Given the description of an element on the screen output the (x, y) to click on. 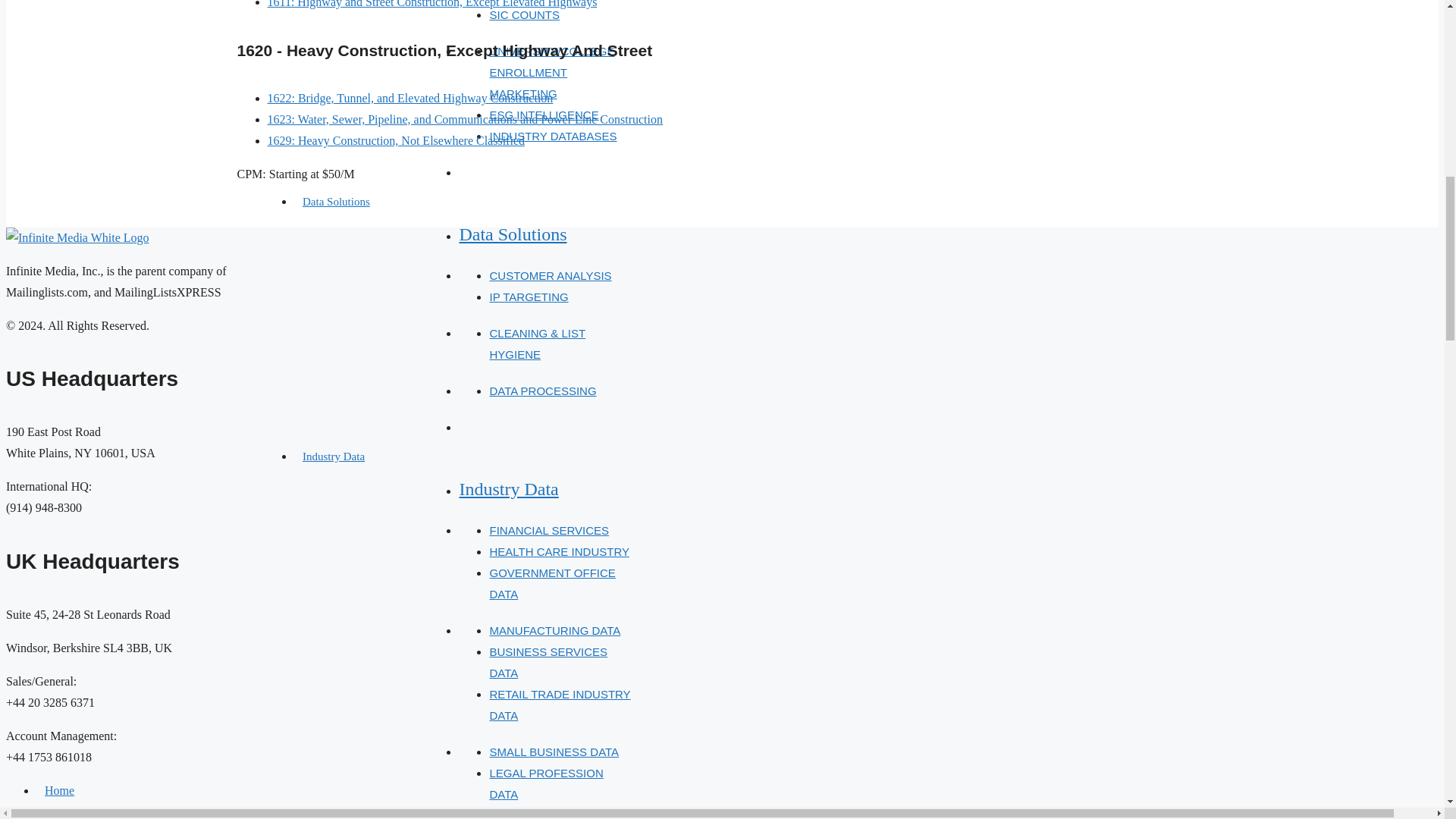
Infinite Media Logo (77, 237)
Data Solutions (335, 201)
SIC COUNTS (524, 14)
ESG INTELLIGENCE (543, 114)
INDUSTRY DATABASES (552, 135)
